Given the description of an element on the screen output the (x, y) to click on. 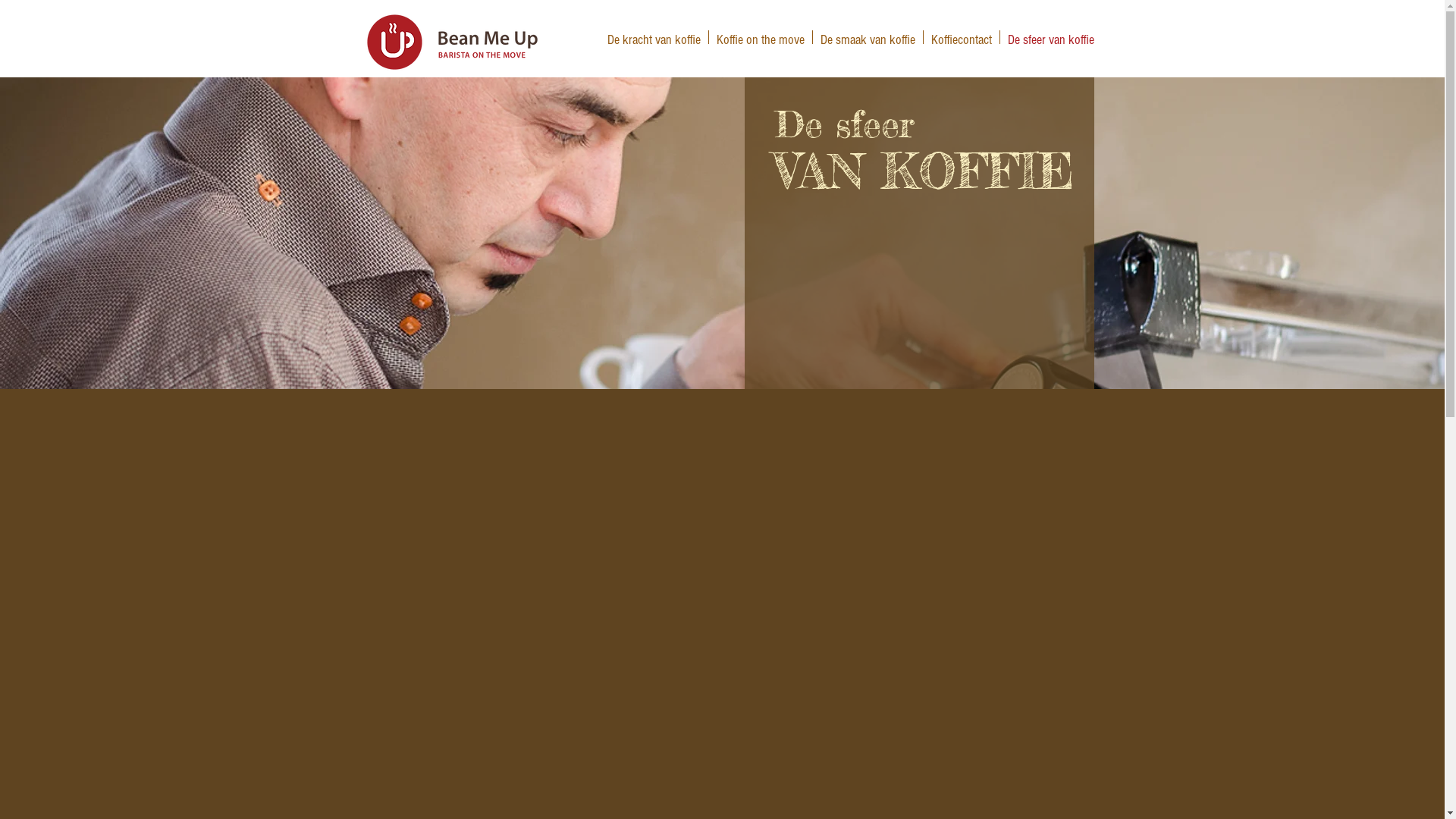
Koffie on the move Element type: text (759, 36)
External YouTube Element type: hover (726, 617)
De sfeer van koffie Element type: text (1050, 36)
De kracht van koffie Element type: text (653, 36)
De smaak van koffie Element type: text (867, 36)
Koffiecontact Element type: text (961, 36)
